Given the description of an element on the screen output the (x, y) to click on. 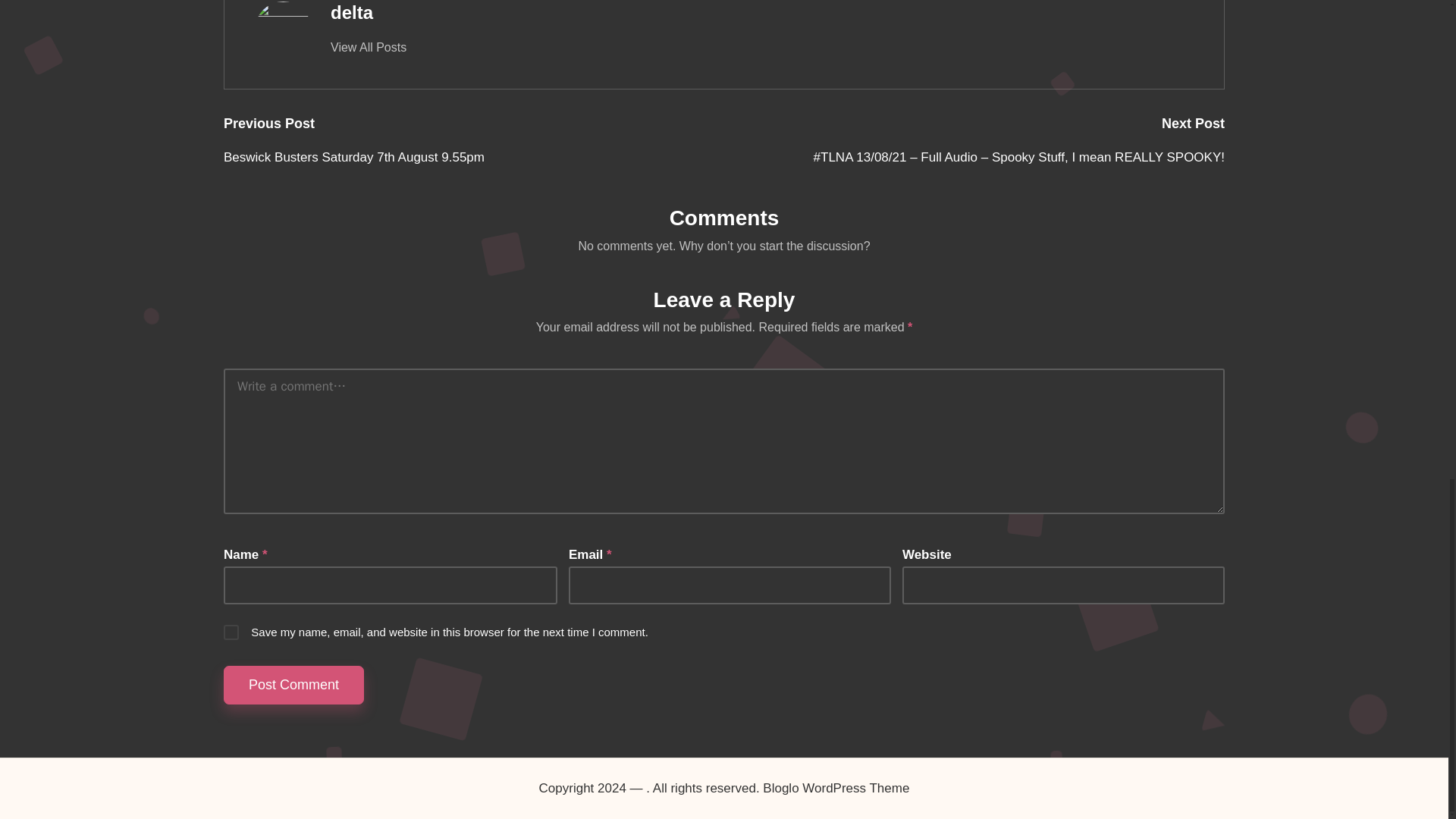
Beswick Busters Saturday 7th August 9.55pm (473, 157)
delta (351, 12)
yes (231, 631)
Post Comment (294, 684)
View All Posts (368, 47)
